Given the description of an element on the screen output the (x, y) to click on. 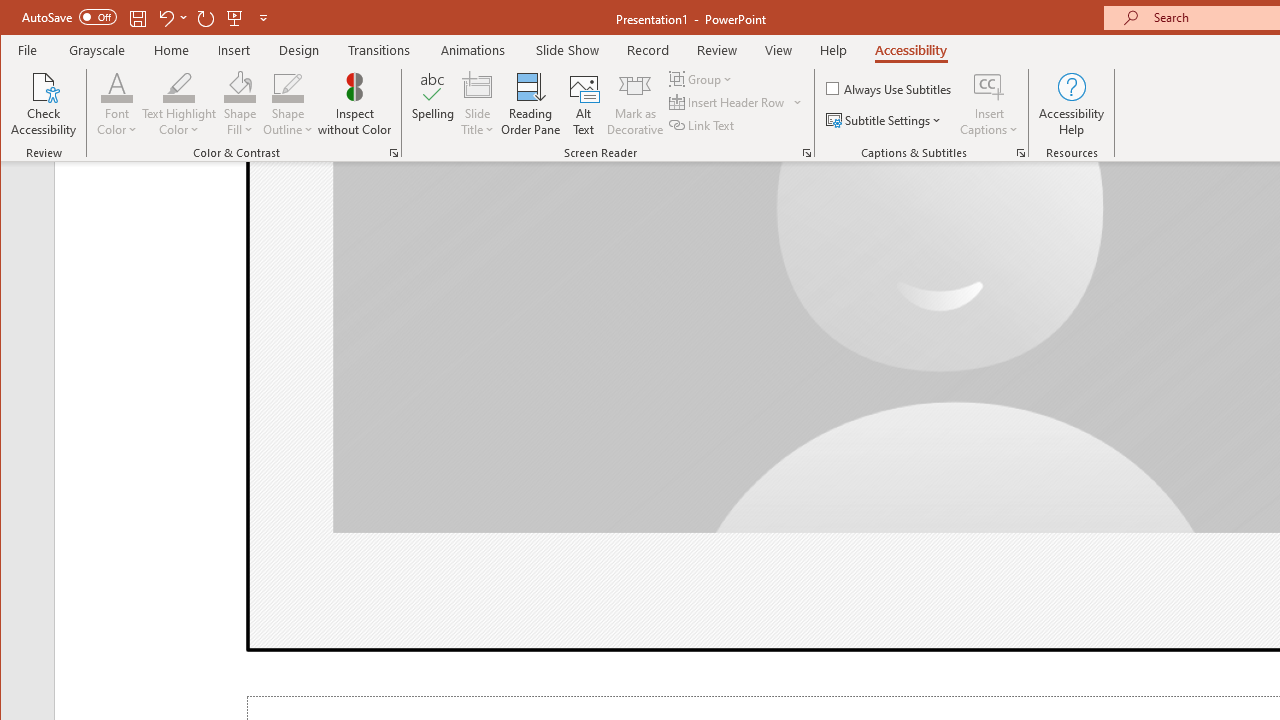
Mark as Decorative (635, 104)
Group (701, 78)
Color & Contrast (393, 152)
Always Use Subtitles (890, 88)
